Given the description of an element on the screen output the (x, y) to click on. 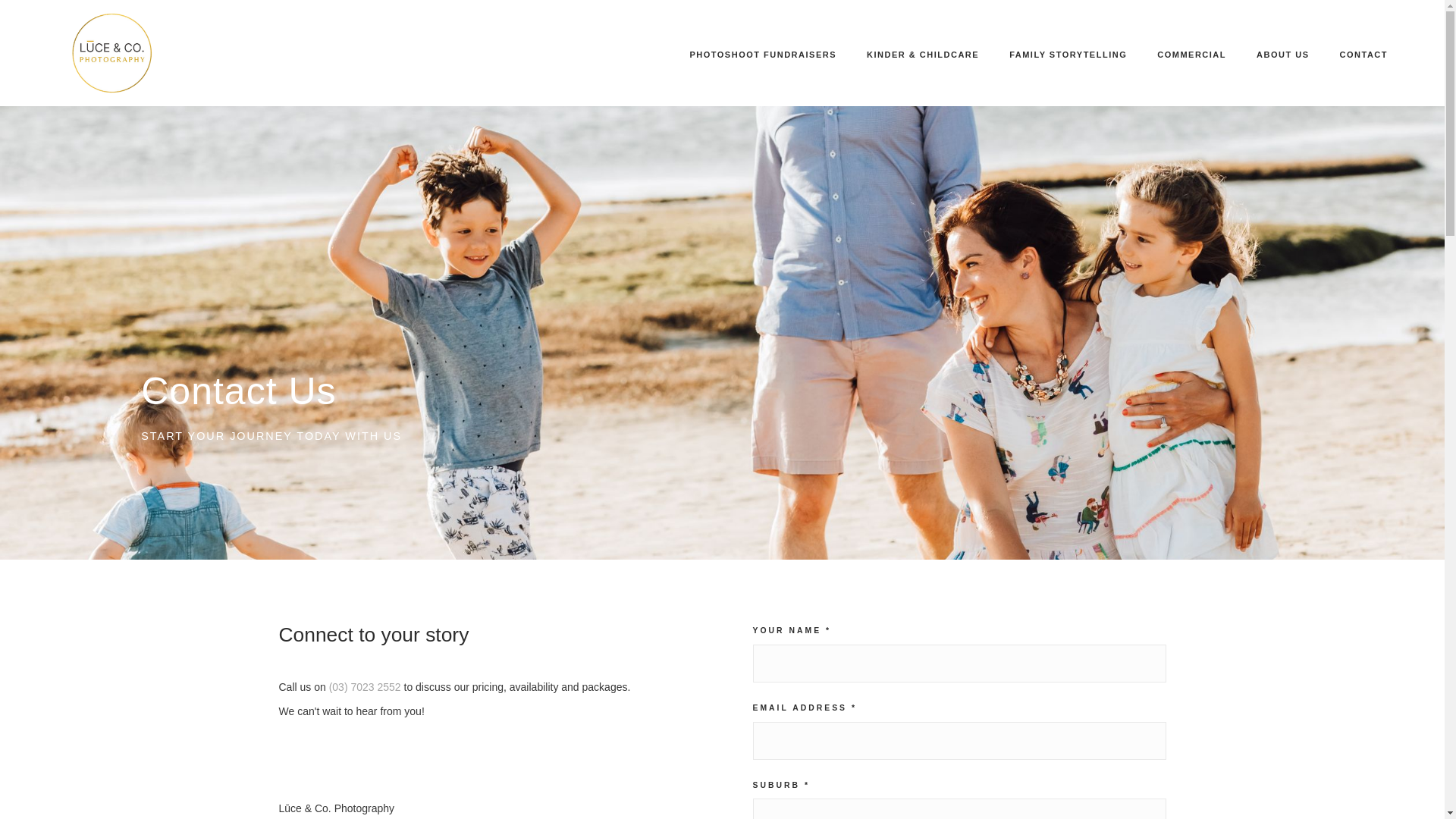
ABOUT US (1282, 54)
PHOTOSHOOT FUNDRAISERS (762, 54)
CONTACT (1363, 54)
COMMERCIAL (1191, 54)
FAMILY STORYTELLING (1067, 54)
